Given the description of an element on the screen output the (x, y) to click on. 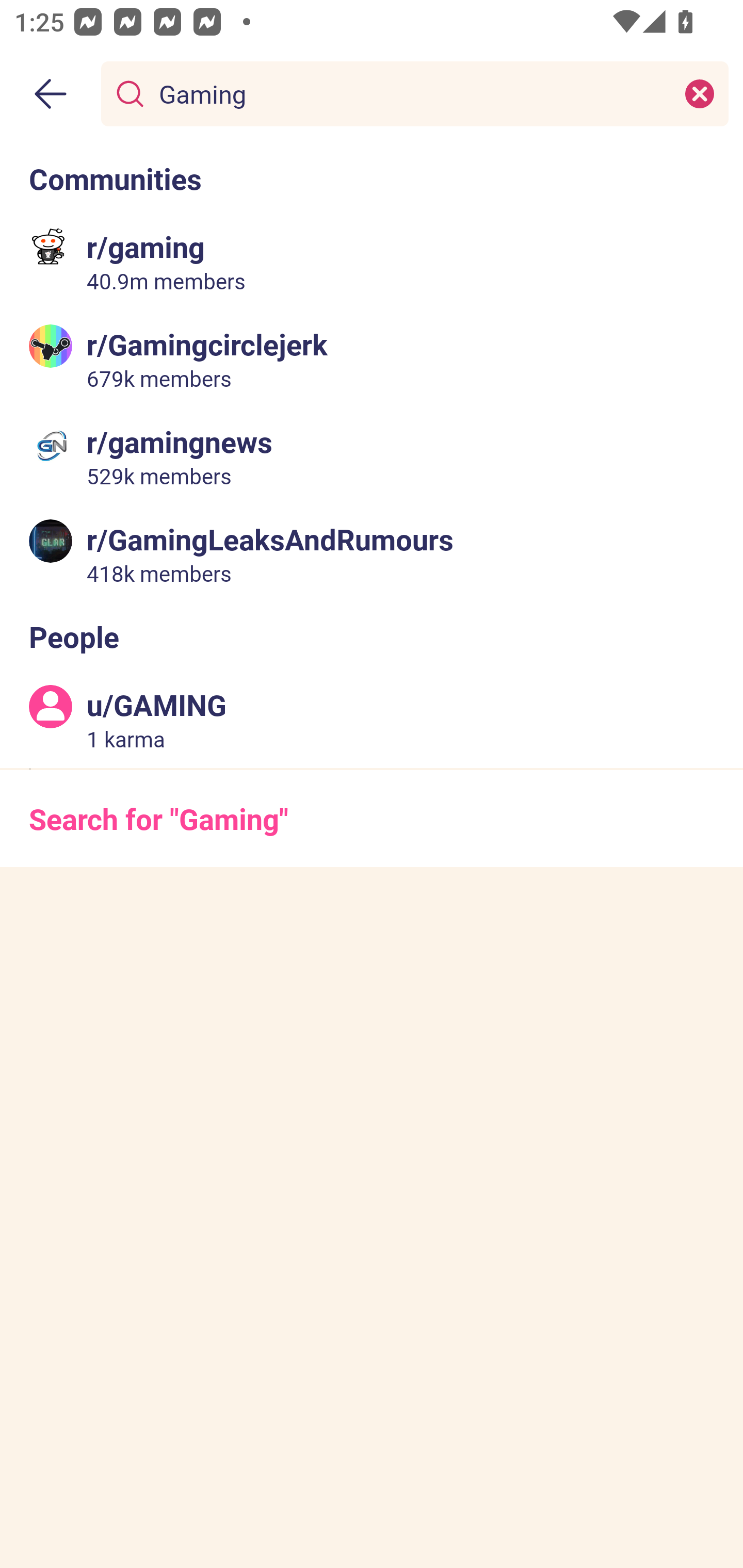
Back (50, 93)
Gaming (410, 93)
Clear search (699, 93)
r/gaming 40.9m members 40.9 million members (371, 261)
r/gamingnews 529k members 529 thousand members (371, 455)
u/GAMING 1 karma 1 karma (371, 719)
Search for "Gaming" (371, 818)
